Given the description of an element on the screen output the (x, y) to click on. 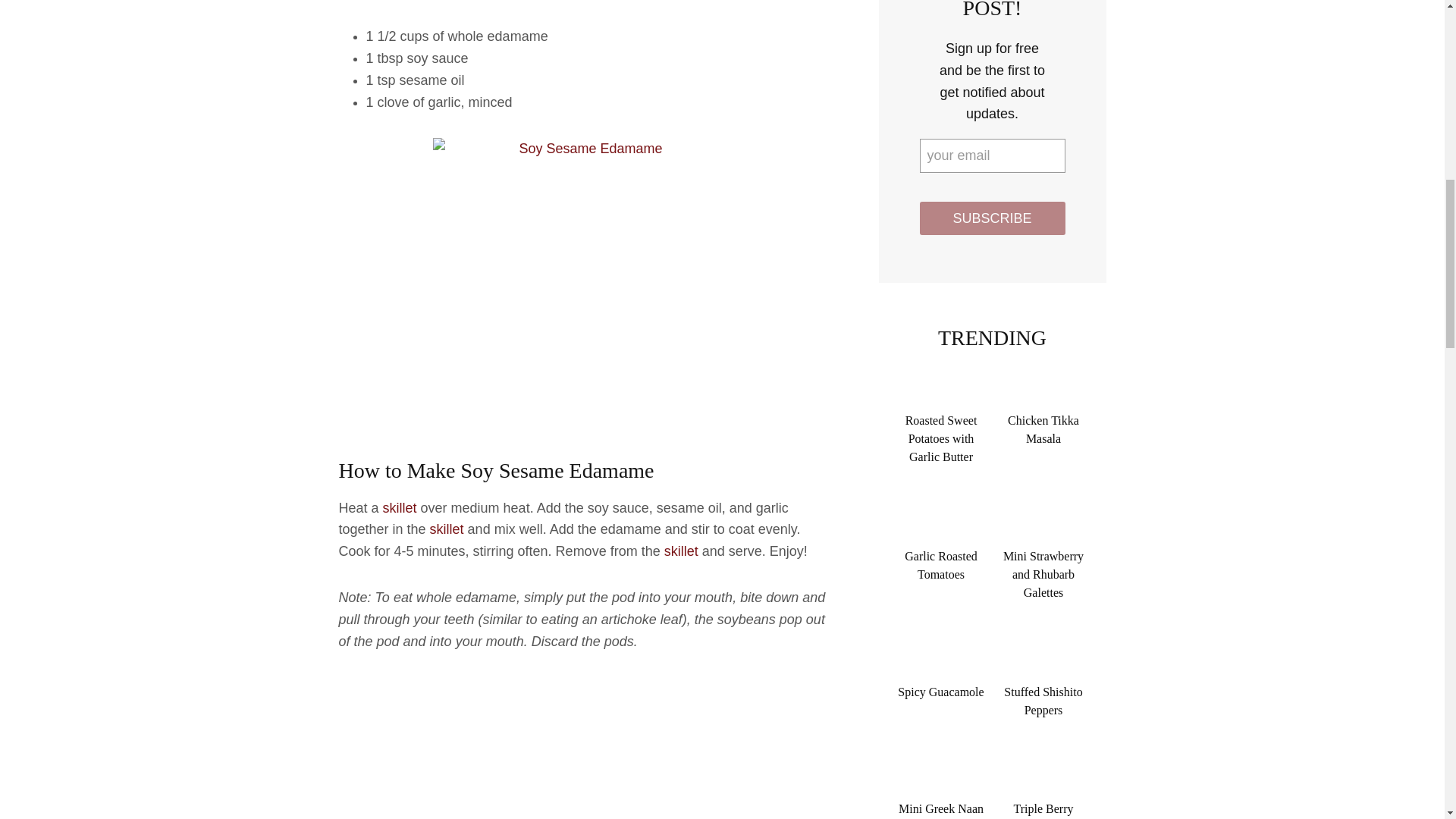
Subscribe (991, 217)
Nonstick Skillet - T-Fal (446, 529)
skillet (680, 550)
skillet (399, 507)
Soy Sesame Edamame (584, 280)
Soy Sesame Edamame (584, 747)
skillet (446, 529)
Nonstick Skillet - T-Fal (399, 507)
Nonstick Skillet - T-Fal (680, 550)
